Given the description of an element on the screen output the (x, y) to click on. 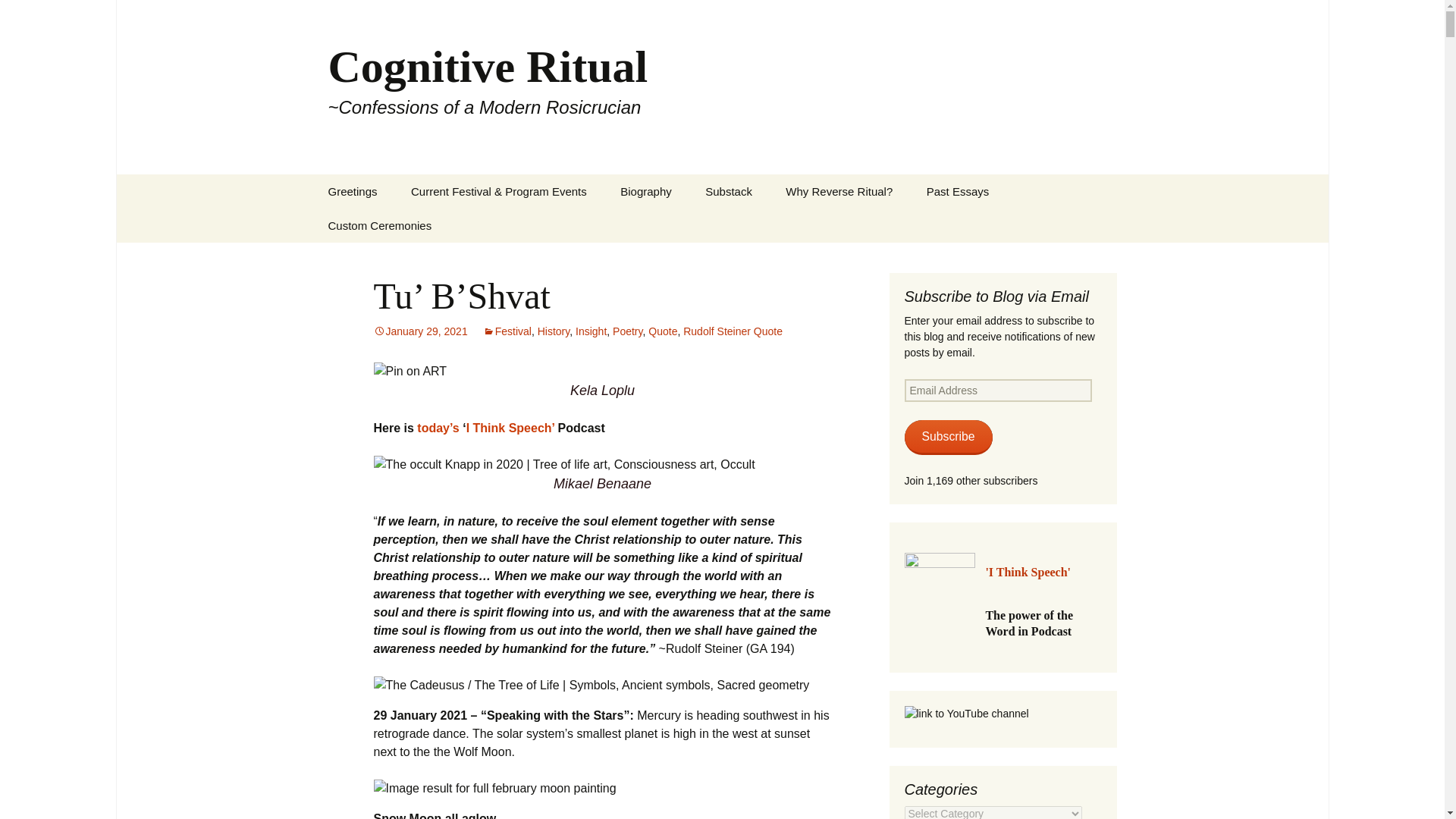
Substack (728, 191)
Quote (662, 331)
Poetry (627, 331)
January 29, 2021 (419, 331)
What is Anthroposophy? (388, 230)
Biography (646, 191)
Past Essays (957, 191)
Why Reverse Ritual? (838, 191)
What is an Anthroposophical Festival? (471, 236)
Custom Ceremonies (379, 225)
